Given the description of an element on the screen output the (x, y) to click on. 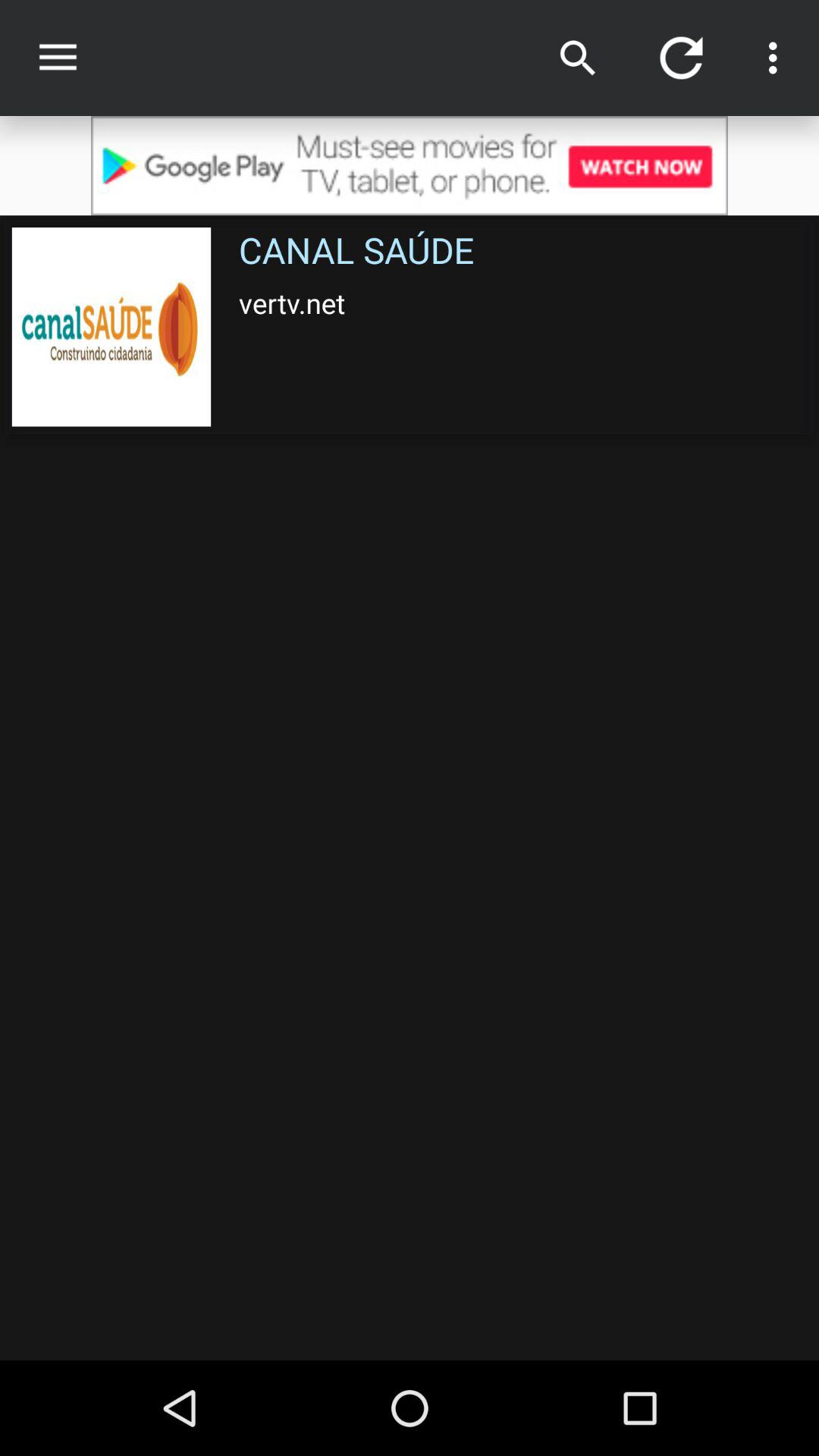
view this advertisement (409, 165)
